Given the description of an element on the screen output the (x, y) to click on. 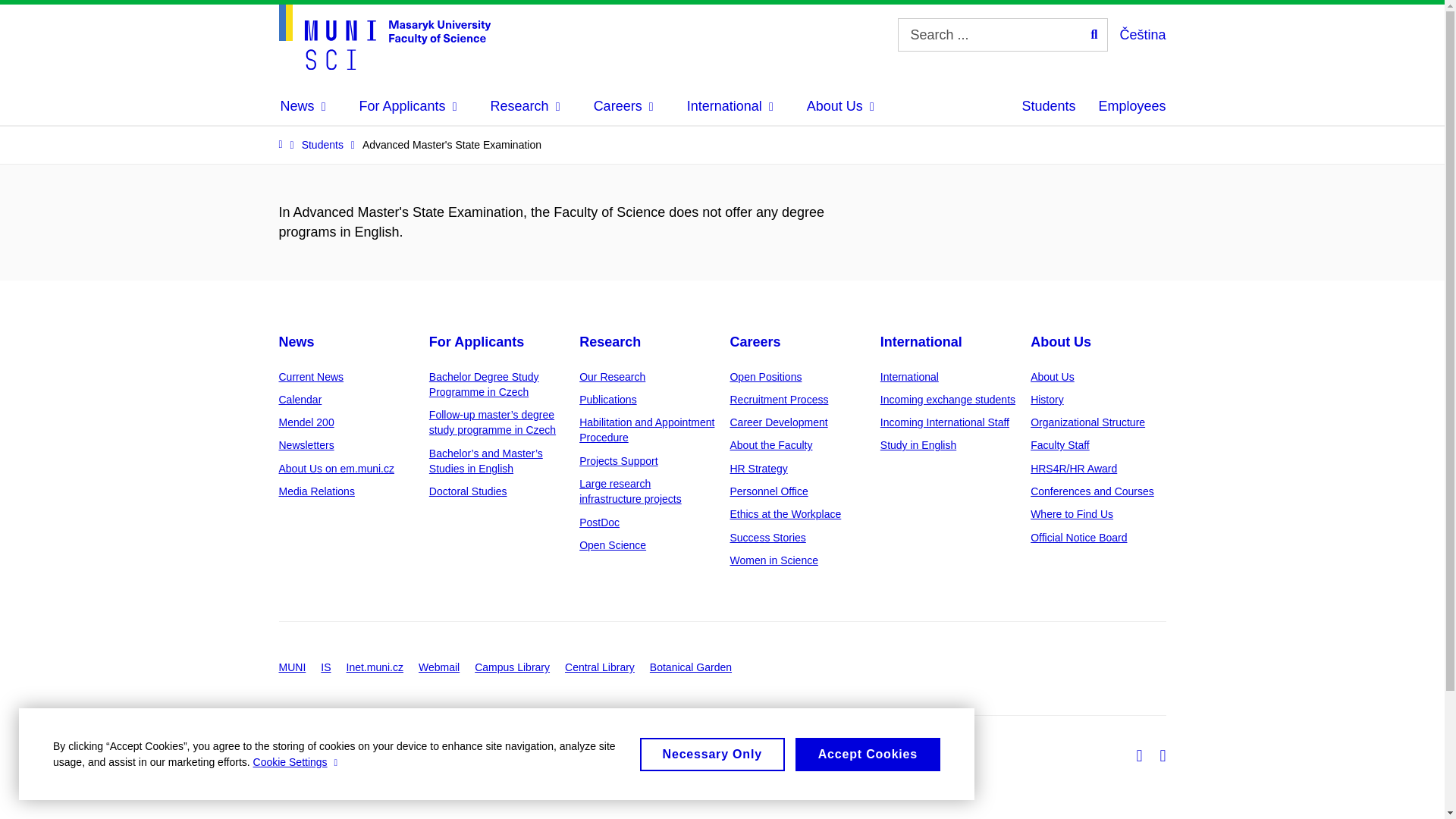
Homepage site (384, 36)
Doctoral Studies (467, 491)
Current News (311, 377)
Calendar (300, 399)
Bachelor Degree Study Programme in Czech (483, 384)
Research (525, 105)
News (296, 341)
Newsletters (306, 444)
For Applicants (476, 341)
For Applicants (408, 105)
Media Relations (317, 491)
Careers (623, 105)
Mendel 200 (306, 422)
Search ... (1093, 34)
News (303, 105)
